Given the description of an element on the screen output the (x, y) to click on. 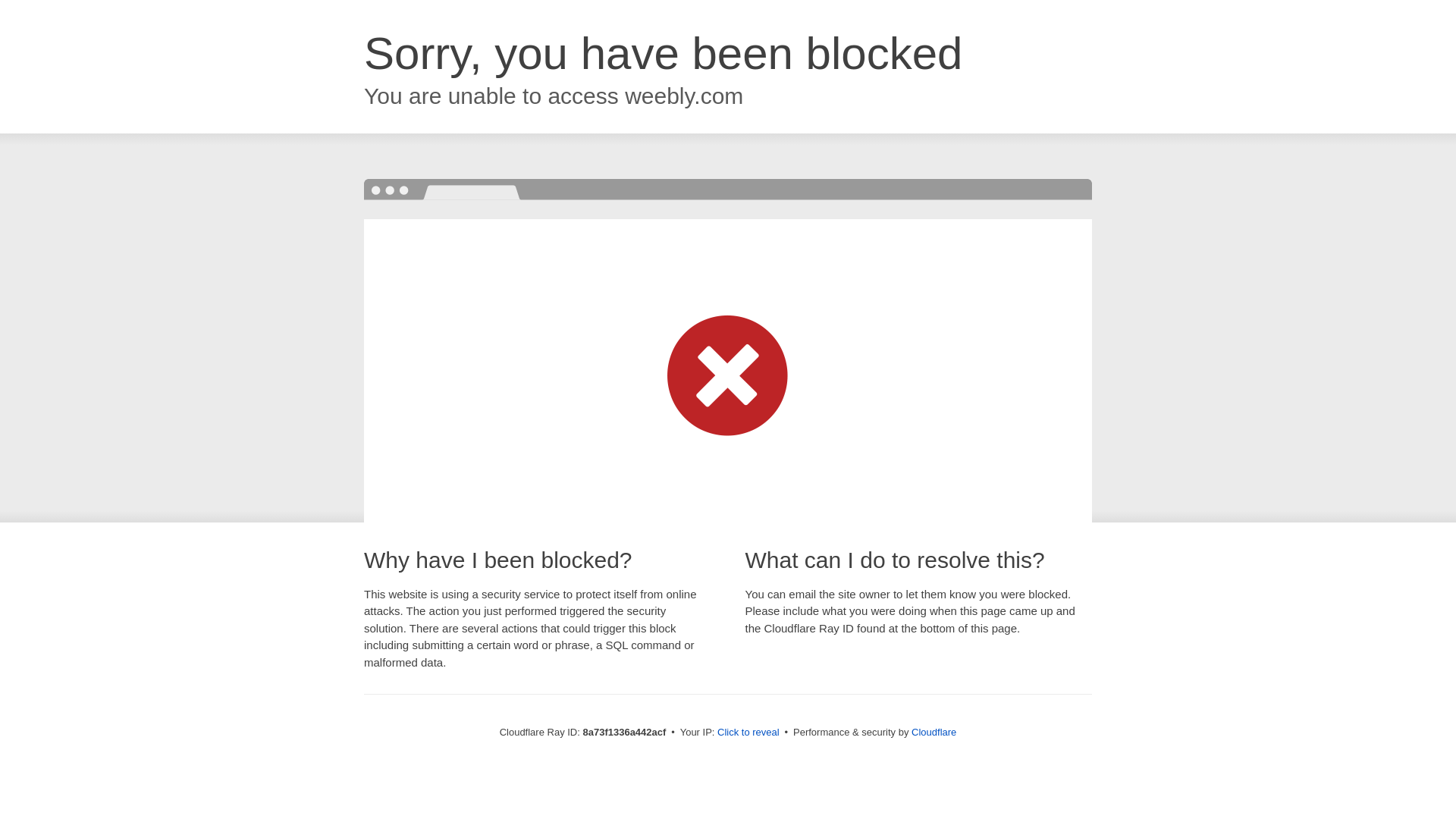
Click to reveal (747, 732)
Cloudflare (933, 731)
